Given the description of an element on the screen output the (x, y) to click on. 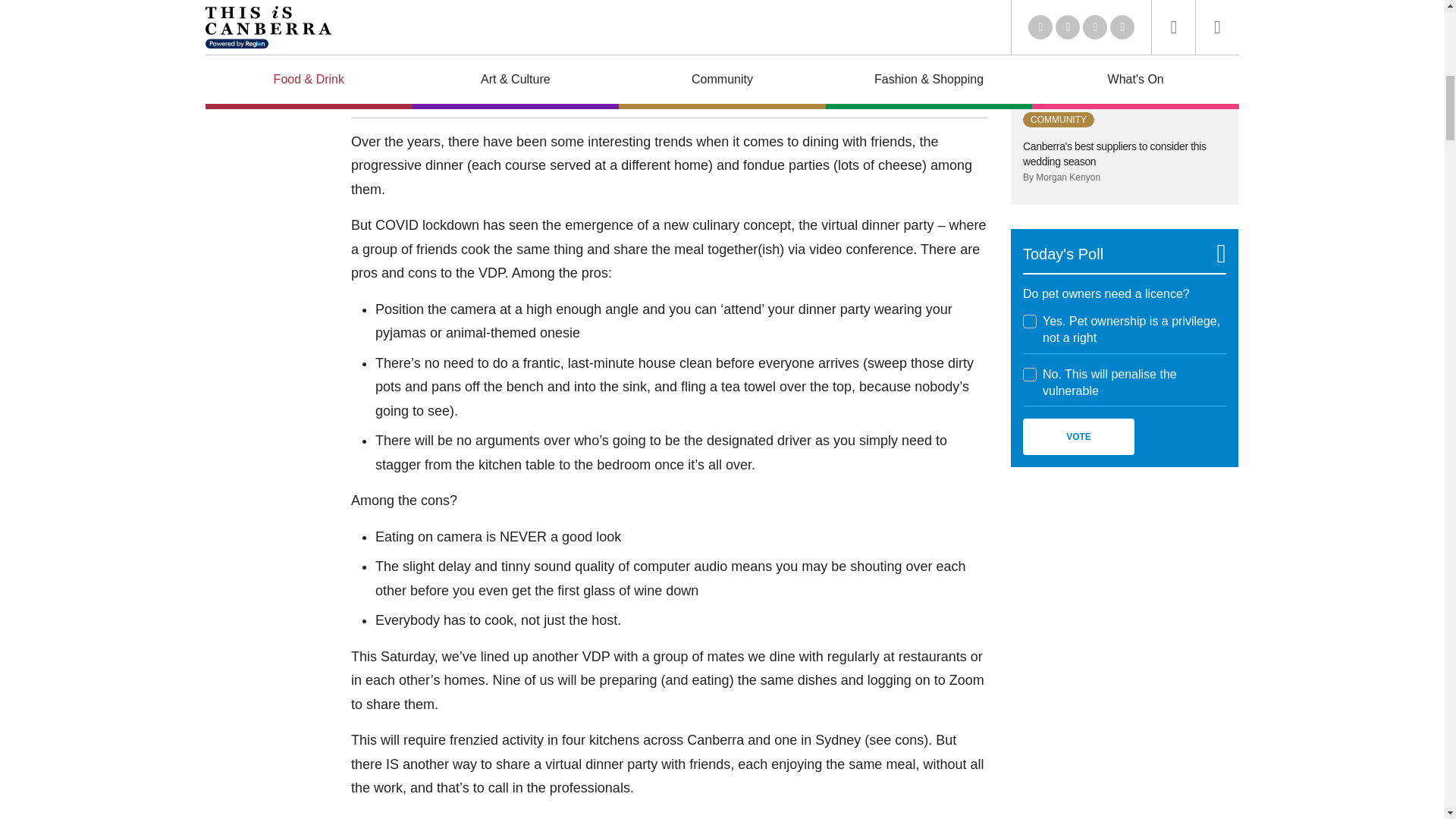
   Vote    (1078, 436)
1 (1029, 321)
2 (1029, 374)
